Given the description of an element on the screen output the (x, y) to click on. 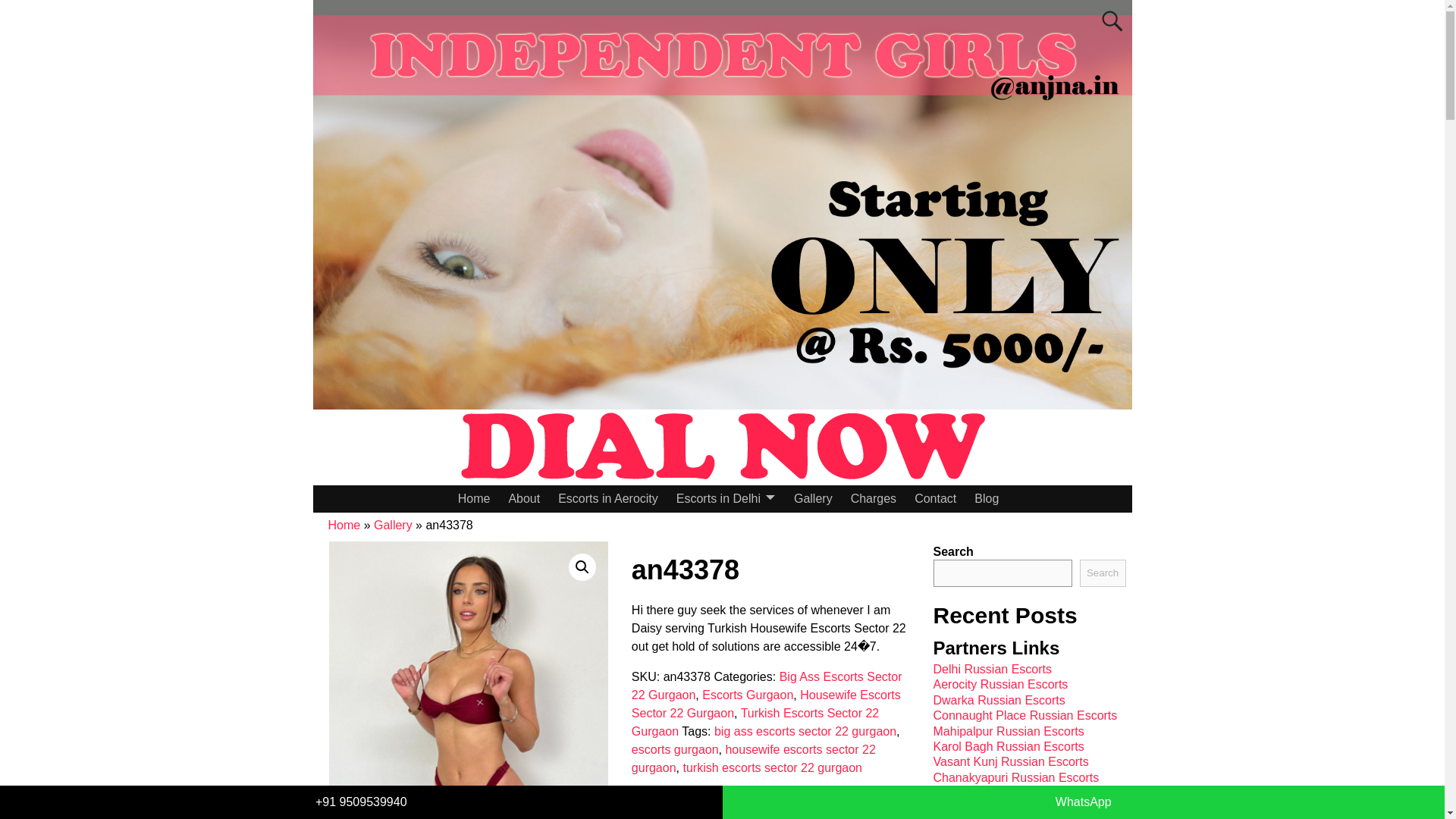
turkish escorts sector 22 gurgaon (771, 767)
housewife escorts sector 22 gurgaon (753, 757)
Escorts in Aerocity (607, 498)
Home (343, 524)
Home (473, 498)
Gallery (812, 498)
Turkish Escorts Sector 22 Gurgaon (755, 721)
Gallery (393, 524)
Housewife Escorts Sector 22 Gurgaon (766, 703)
Escorts in Delhi (725, 498)
